Given the description of an element on the screen output the (x, y) to click on. 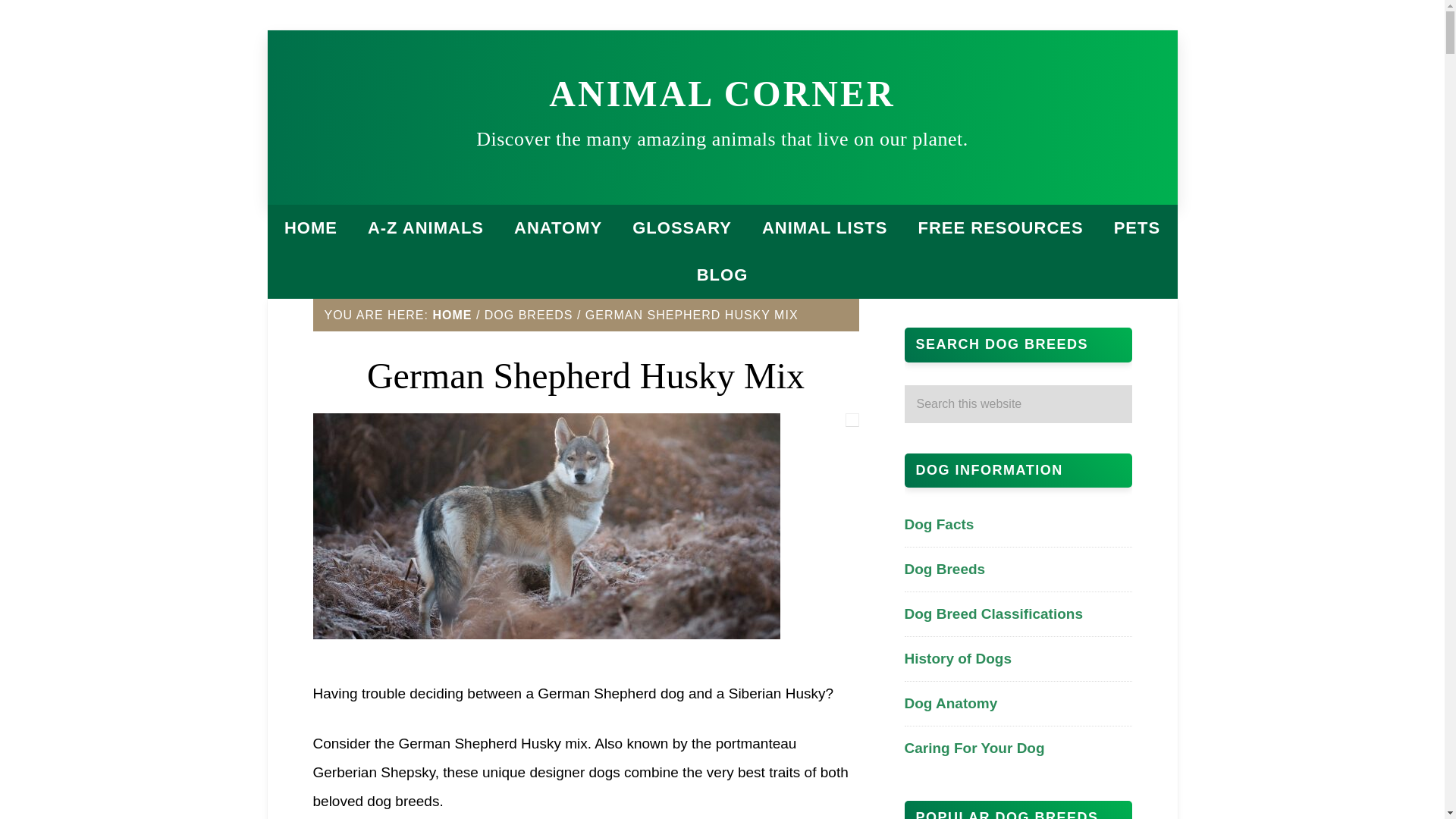
Dog Facts (939, 524)
Dog Anatomy (950, 703)
ANIMAL LISTS (824, 227)
HOME (451, 314)
GLOSSARY (681, 227)
A-Z ANIMALS (425, 227)
History of Dogs (957, 658)
ANATOMY (558, 227)
